Given the description of an element on the screen output the (x, y) to click on. 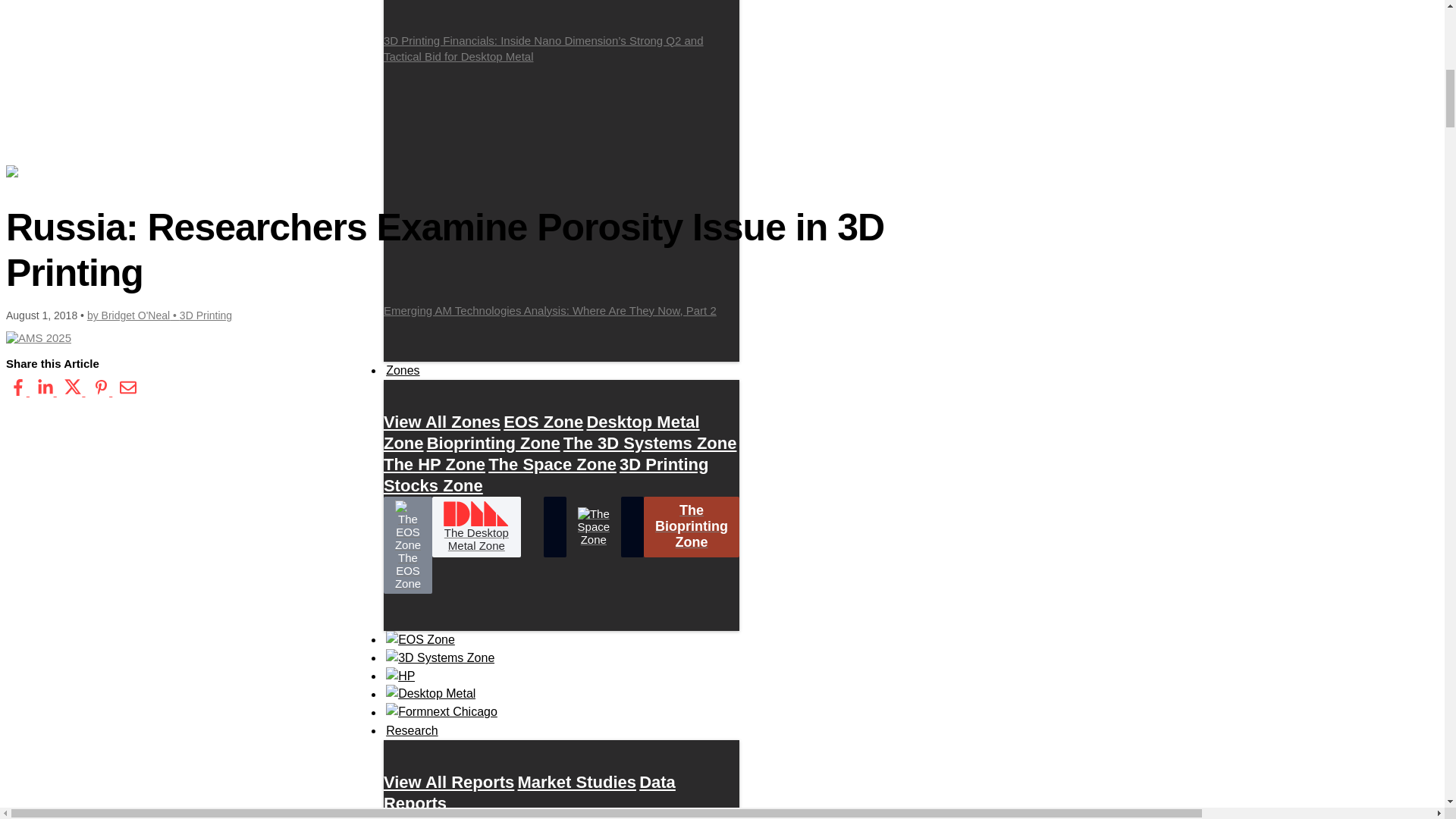
The Desktop Metal Zone (475, 526)
The HP Zone (434, 464)
EOS Zone (543, 421)
View All Zones (442, 421)
Zones (403, 370)
Desktop Metal Zone (542, 432)
3D Printing Stocks Zone (545, 474)
The 3D Systems Zone (649, 442)
Bioprinting Zone (493, 442)
